Given the description of an element on the screen output the (x, y) to click on. 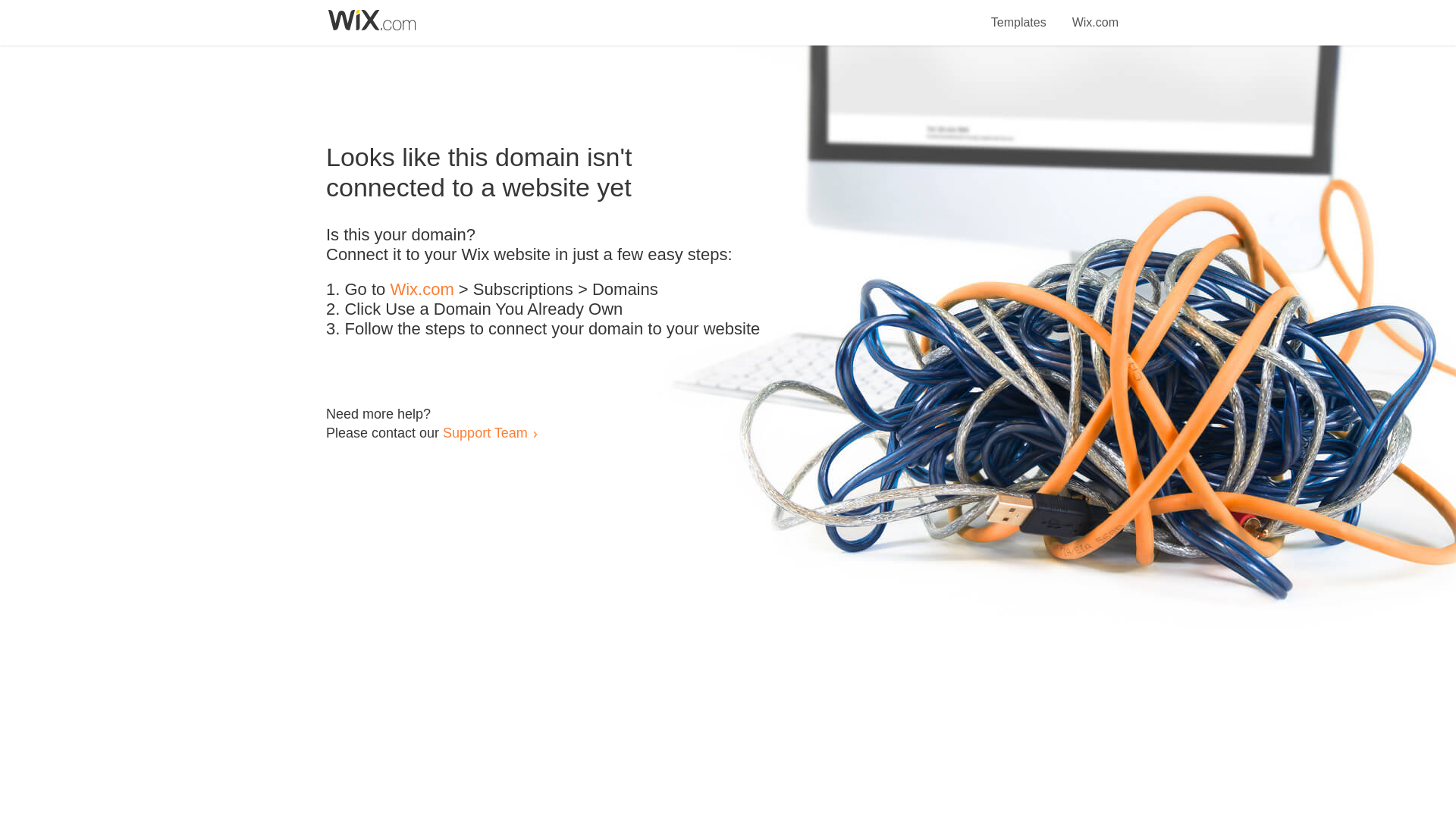
Wix.com (421, 289)
Wix.com (1095, 14)
Templates (1018, 14)
Support Team (484, 432)
